Given the description of an element on the screen output the (x, y) to click on. 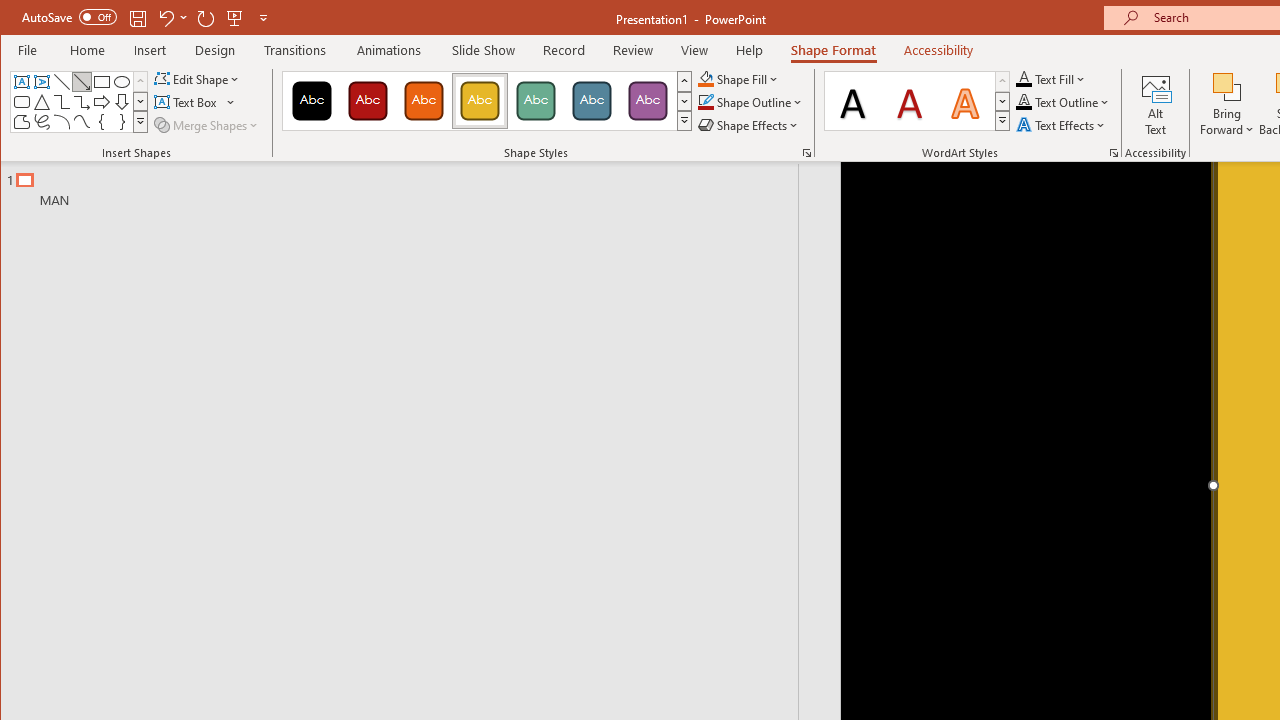
Isosceles Triangle (42, 102)
Colored Fill - Gold, Accent 3 (479, 100)
Colored Fill - Orange, Accent 2 (423, 100)
Arrow: Right (102, 102)
AutomationID: TextStylesGallery (917, 101)
Shape Outline Blue, Accent 1 (705, 101)
Quick Styles (1001, 120)
Format Object... (806, 152)
Bring Forward (1227, 104)
Right Brace (121, 121)
Shape Fill Orange, Accent 2 (705, 78)
Format Text Effects... (1113, 152)
Edit Shape (198, 78)
Colored Fill - Blue-Gray, Accent 5 (591, 100)
